Given the description of an element on the screen output the (x, y) to click on. 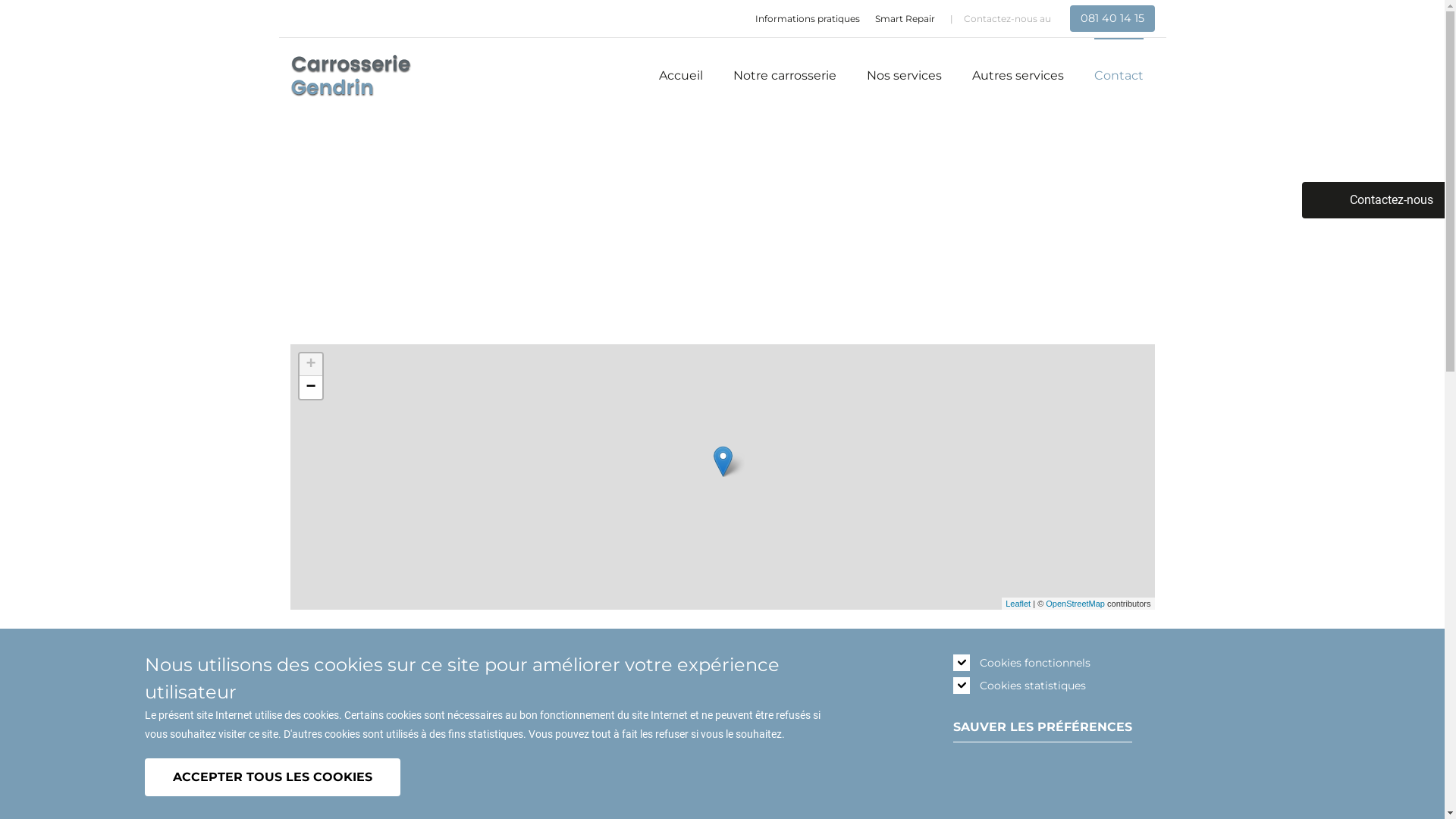
081 40 14 15 Element type: text (1111, 18)
OpenStreetMap Element type: text (1074, 603)
Contact Element type: text (1117, 75)
Accueil Element type: text (680, 75)
Autres services Element type: text (1017, 75)
Smart Repair Element type: text (905, 18)
ACCEPTER TOUS LES COOKIES Element type: text (271, 777)
Notre carrosserie Element type: text (783, 75)
RETIRER LE CONSENTEMENT Element type: text (428, 769)
Nos services Element type: text (903, 75)
Informations pratiques Element type: text (807, 18)
Contactez-nous Element type: text (1373, 200)
carrosseriegendrin@gmail.com Element type: text (776, 311)
carrosseriegendrin@gmail.com Element type: text (741, 778)
Leaflet Element type: text (1017, 603)
+ Element type: text (309, 364)
